Given the description of an element on the screen output the (x, y) to click on. 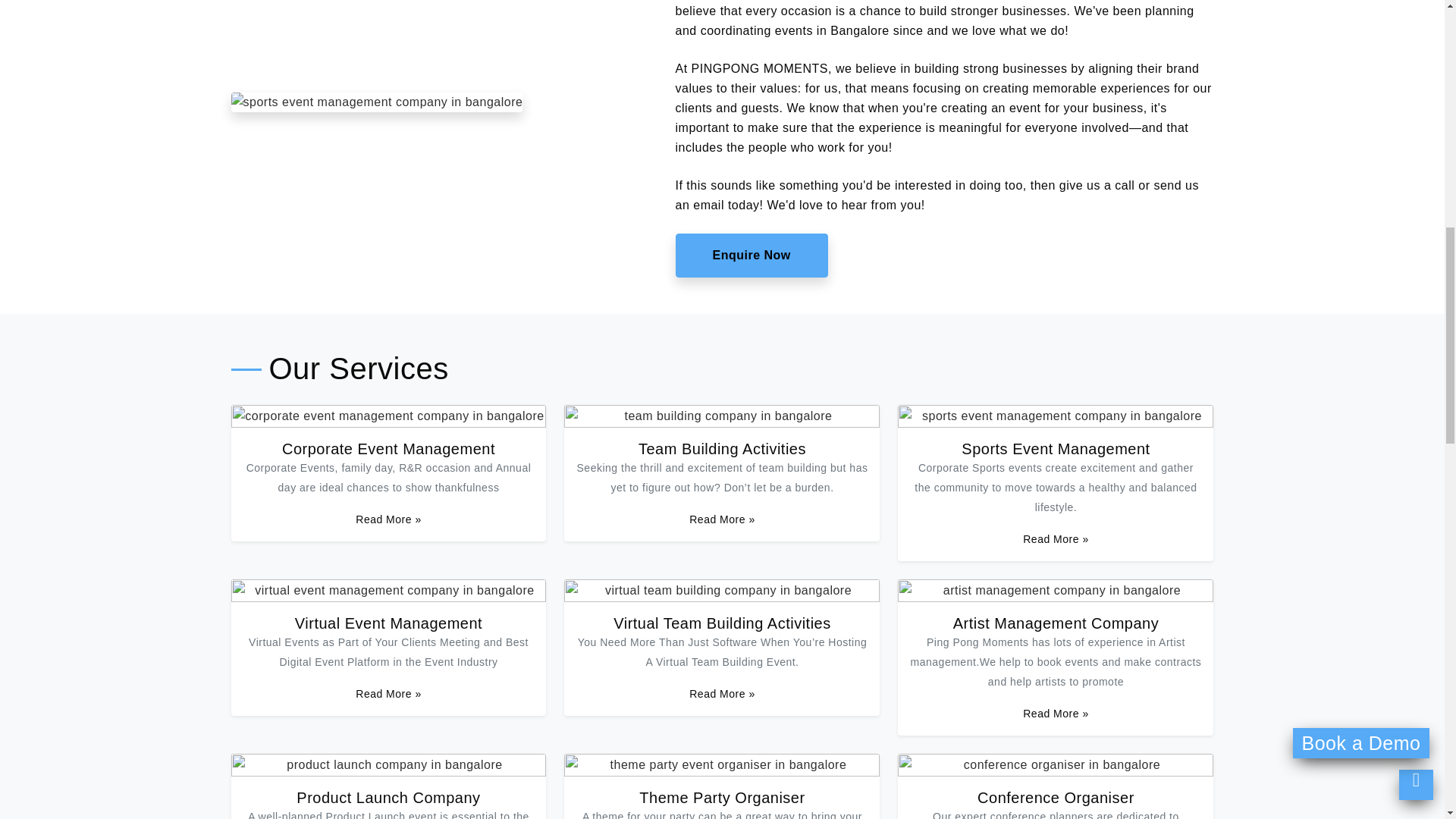
Team Building Activities (722, 448)
Virtual Team Building Activities (721, 623)
Virtual Event Management (388, 623)
Enquire Now (751, 255)
Corporate Event Management (388, 448)
Artist Management Company (1055, 623)
Product Launch Company (388, 797)
Sports Event Management (1055, 448)
Theme Party Organiser (722, 797)
